Given the description of an element on the screen output the (x, y) to click on. 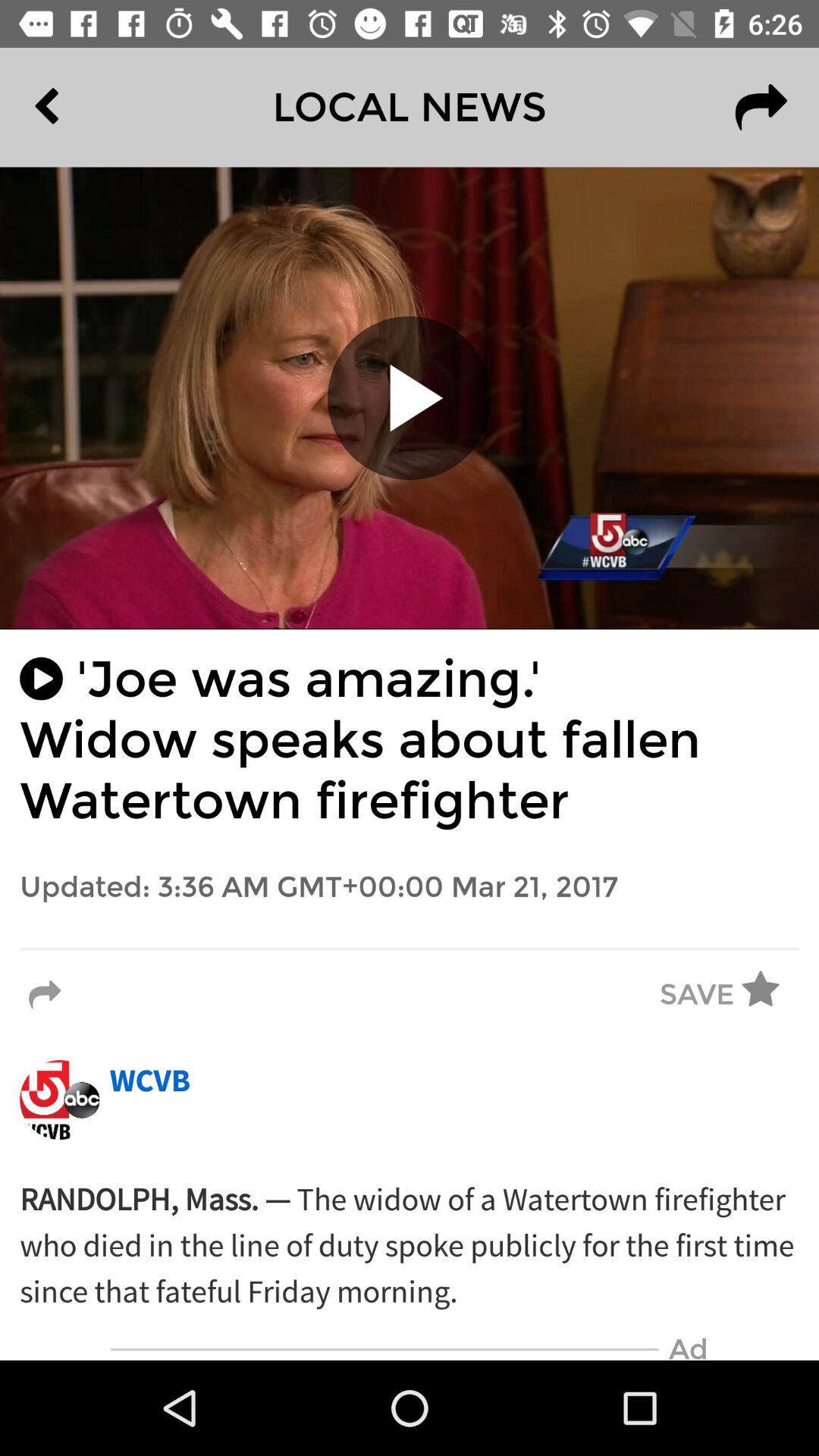
click the item to the left of save item (44, 995)
